Given the description of an element on the screen output the (x, y) to click on. 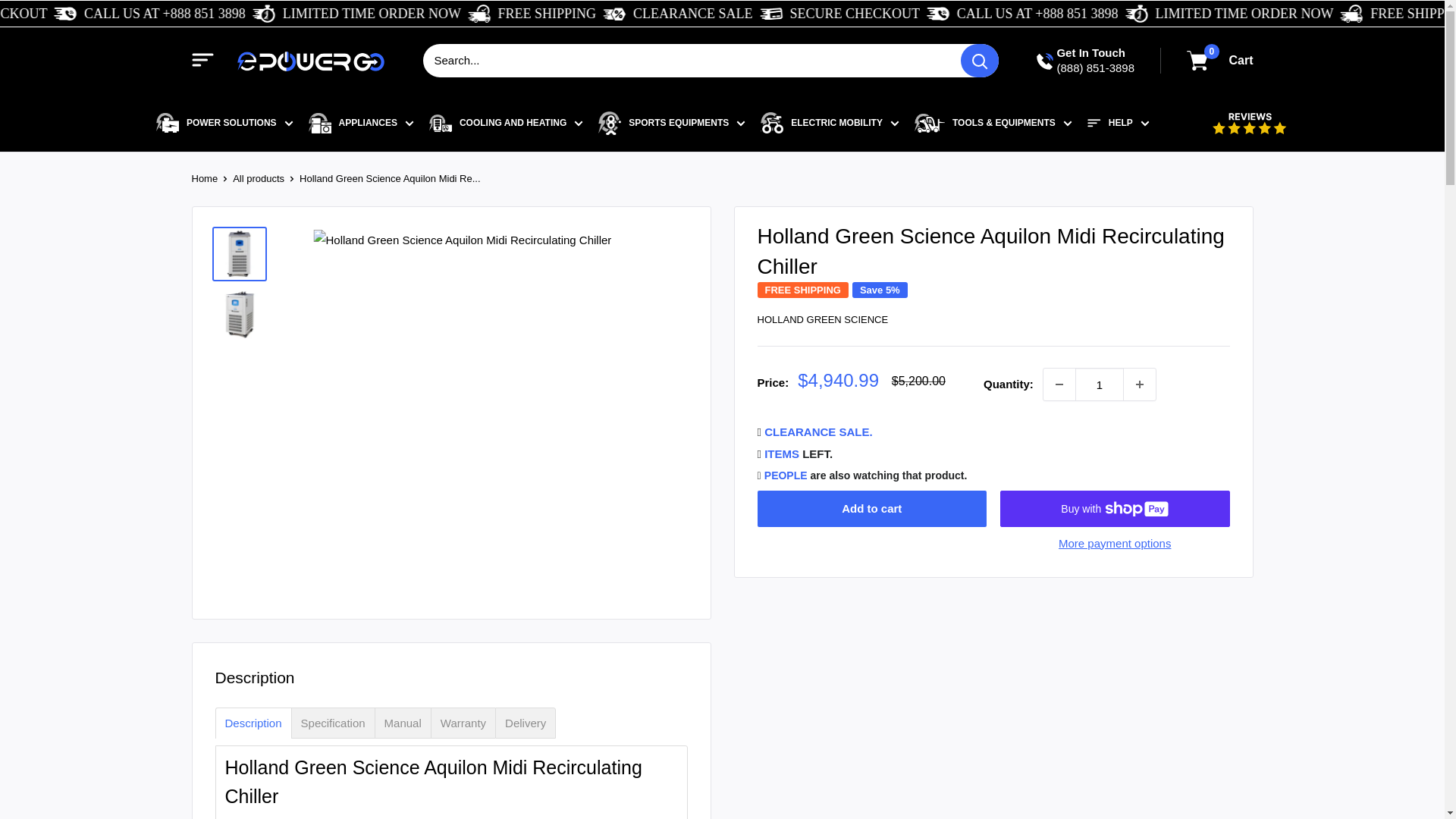
Decrease quantity by 1 (1059, 384)
Increase quantity by 1 (1140, 384)
1 (1099, 384)
